Given the description of an element on the screen output the (x, y) to click on. 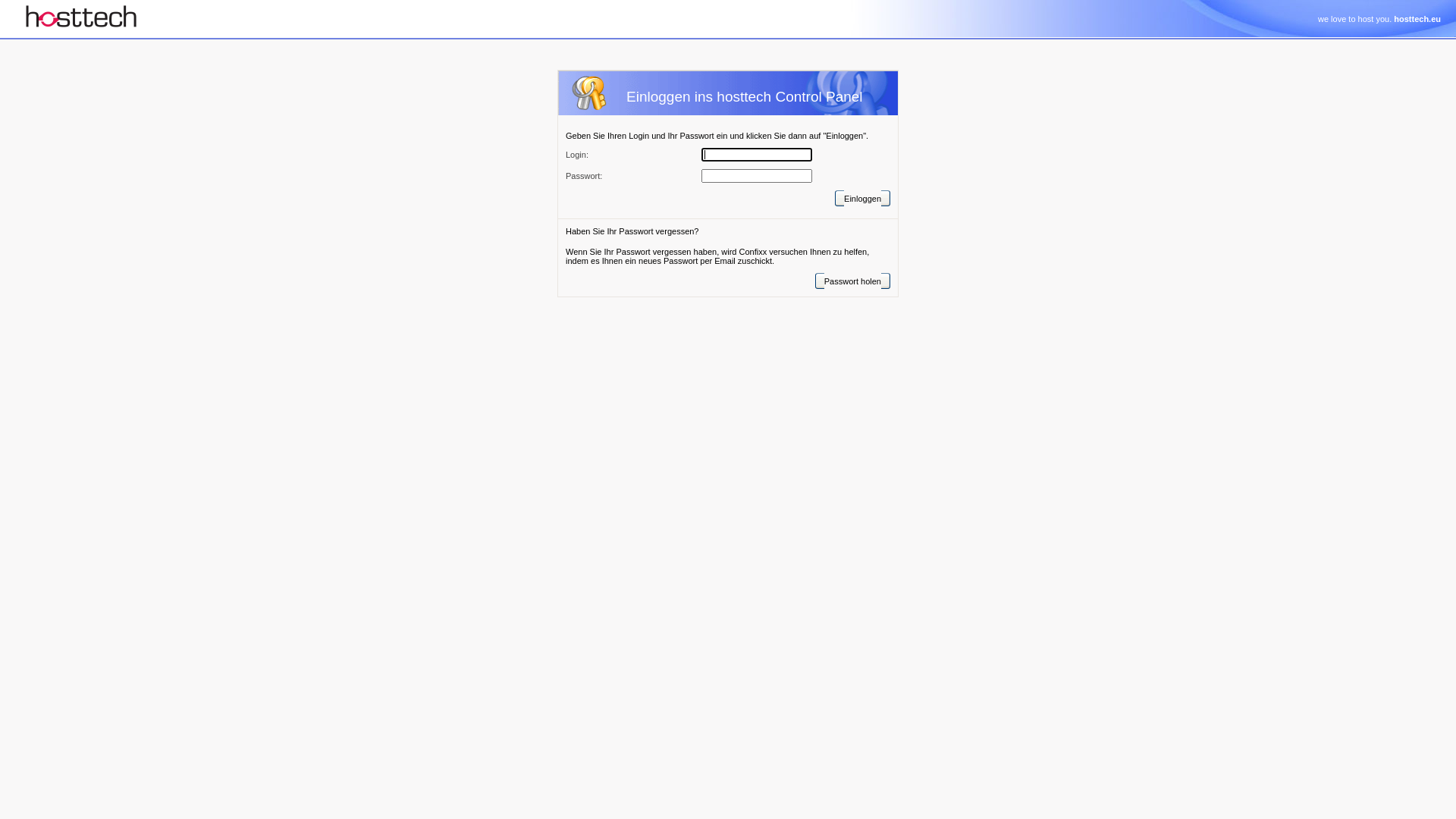
Einloggen Element type: text (862, 198)
Passwort holen Element type: text (852, 280)
we love to host you. hosttech.eu Element type: text (1378, 18)
